Given the description of an element on the screen output the (x, y) to click on. 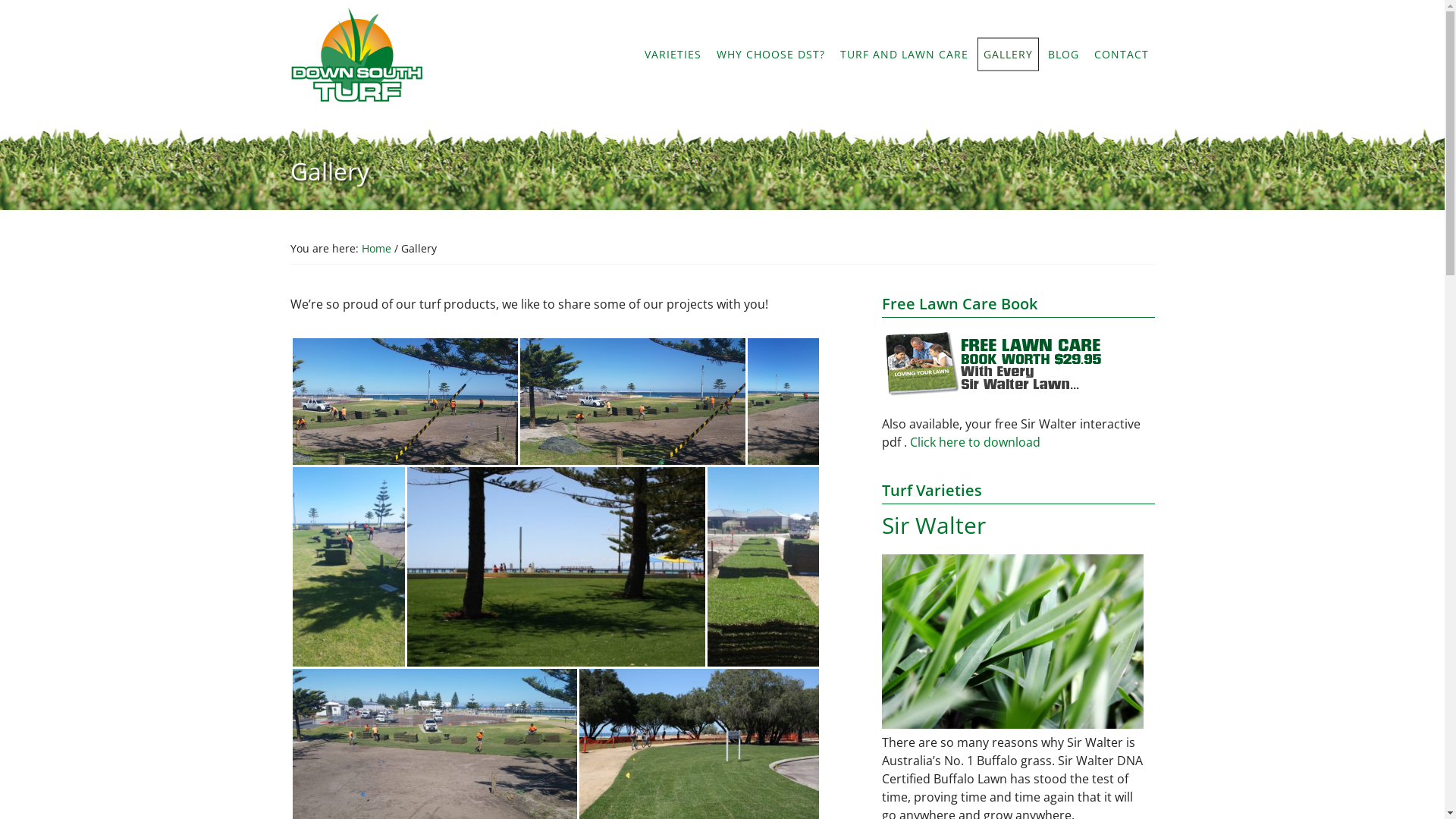
Skip to content Element type: text (0, 0)
DOWN SOUTH TURF Element type: text (365, 54)
Sir Walter Element type: text (933, 524)
Home Element type: text (375, 248)
GALLERY Element type: text (1007, 54)
Click here to download Element type: text (975, 441)
CONTACT Element type: text (1120, 54)
TURF AND LAWN CARE Element type: text (904, 54)
BLOG Element type: text (1063, 54)
VARIETIES Element type: text (672, 54)
WHY CHOOSE DST? Element type: text (769, 54)
